Given the description of an element on the screen output the (x, y) to click on. 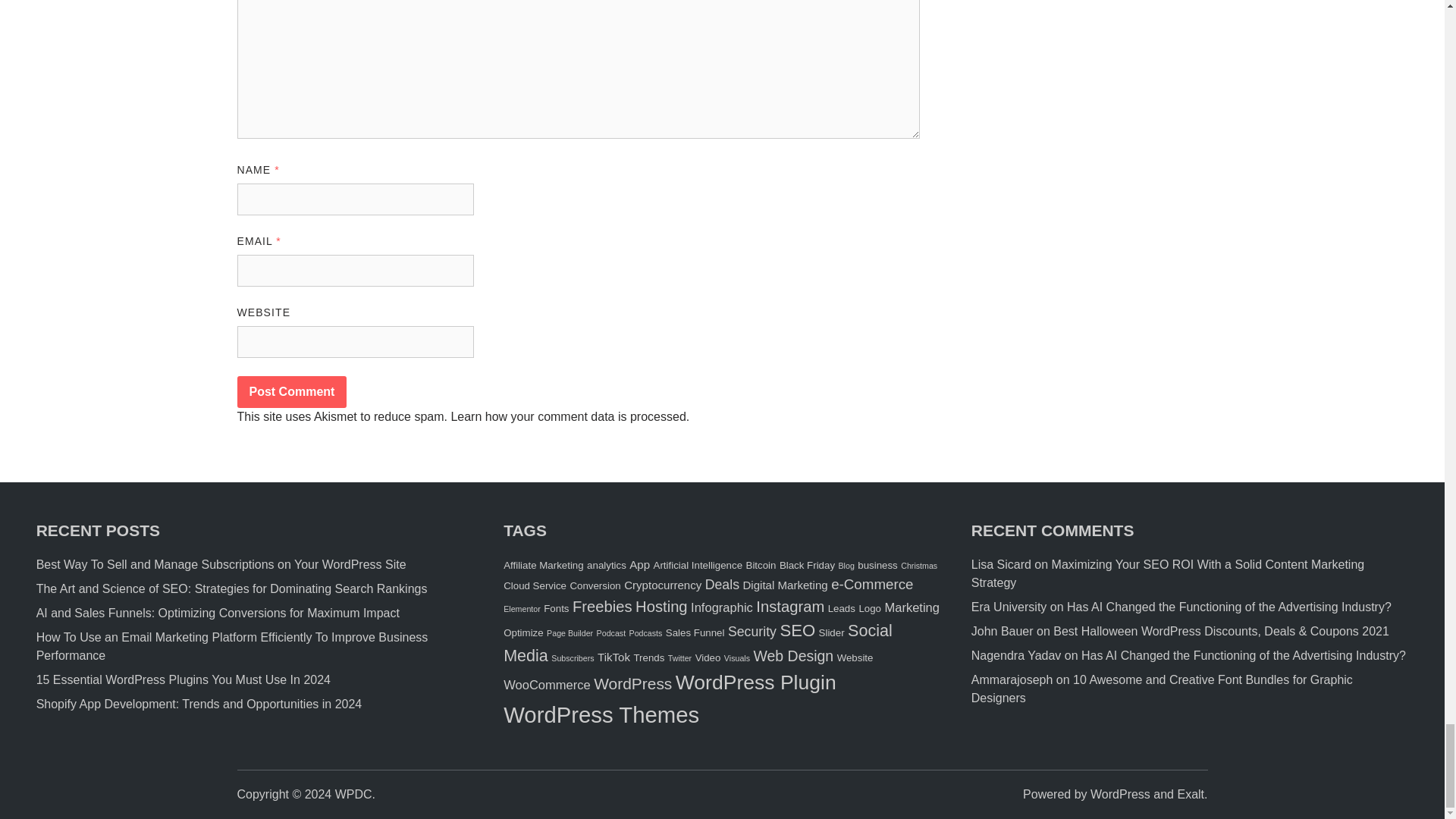
Post Comment (290, 391)
WPDC (353, 793)
